Given the description of an element on the screen output the (x, y) to click on. 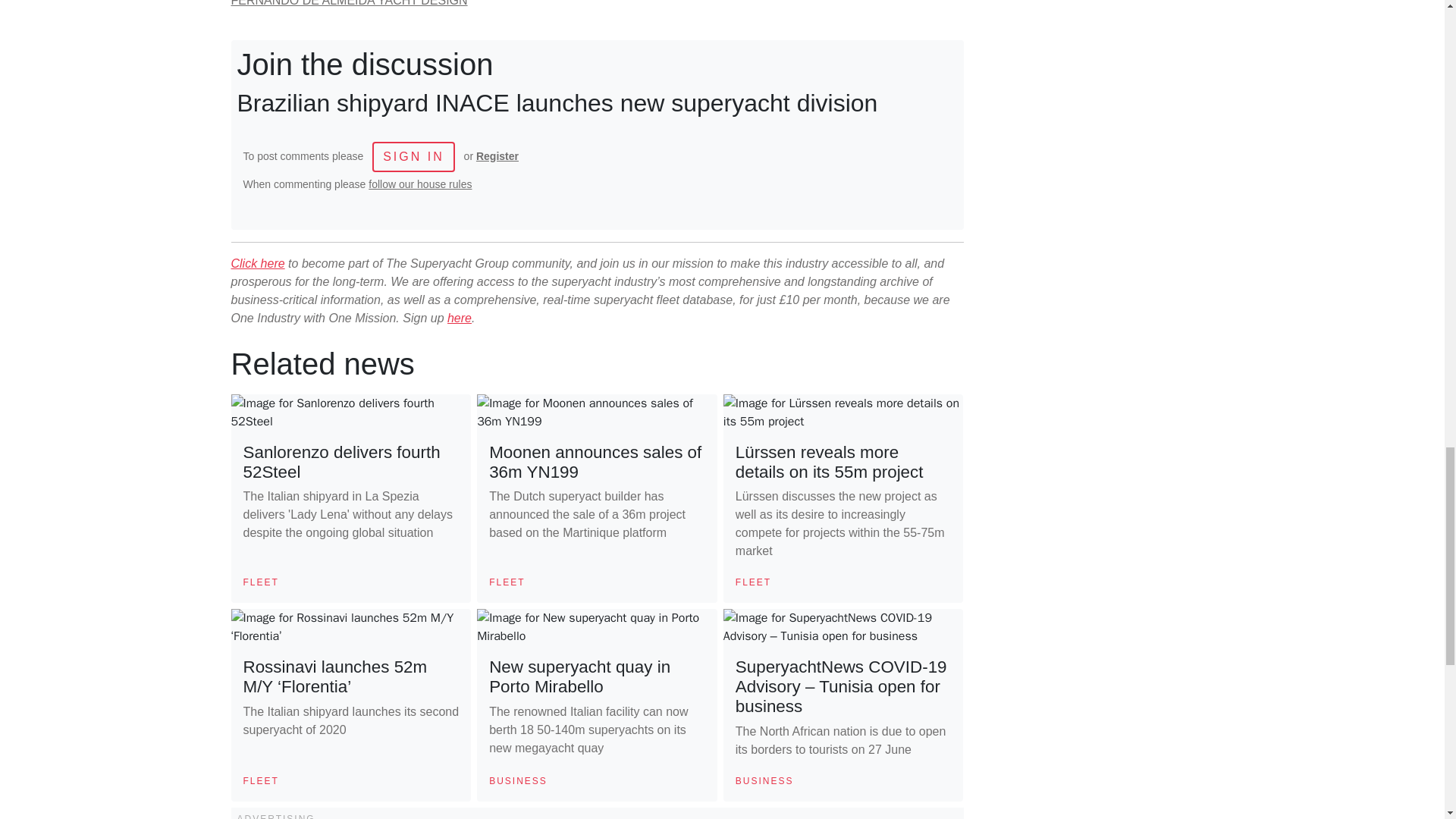
here (458, 318)
Sanlorenzo delivers fourth 52Steel (341, 462)
FERNANDO DE ALMEIDA YACHT DESIGN (348, 3)
Moonen announces sales of 36m YN199 (595, 462)
New superyacht quay in Porto Mirabello (579, 676)
follow our house rules (419, 184)
Click here (256, 263)
